Given the description of an element on the screen output the (x, y) to click on. 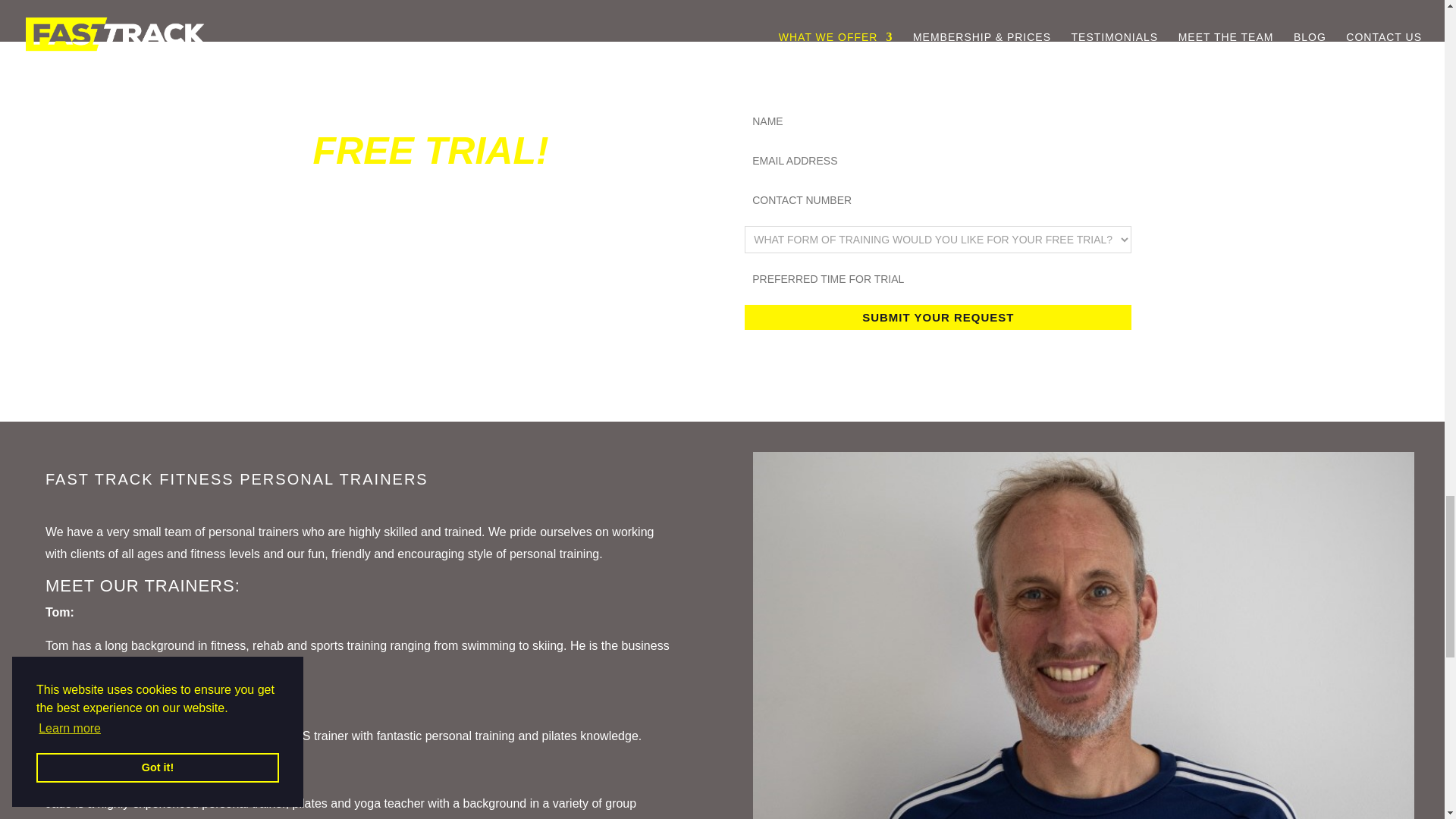
SUBMIT YOUR REQUEST (937, 317)
SUBMIT YOUR REQUEST (937, 317)
